Given the description of an element on the screen output the (x, y) to click on. 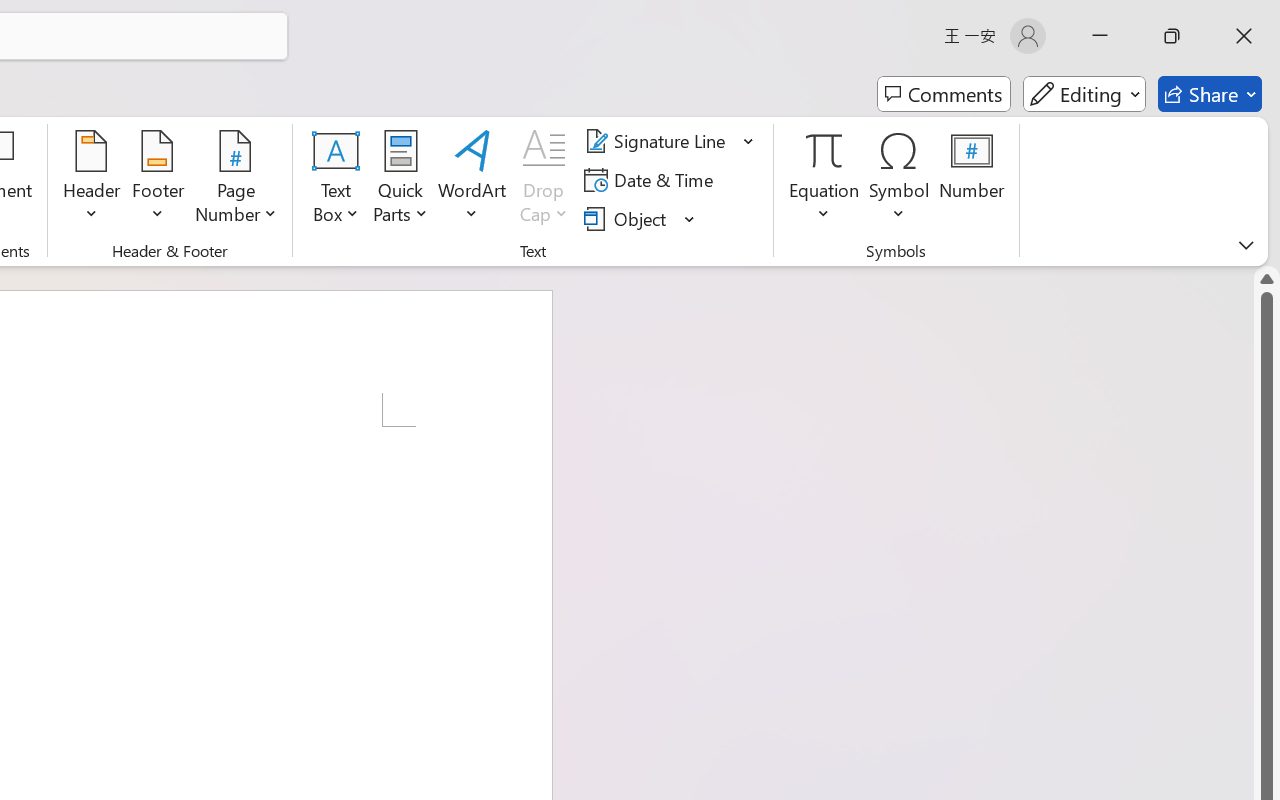
Object... (640, 218)
Signature Line (669, 141)
Header (92, 179)
Date & Time... (651, 179)
Text Box (335, 179)
Equation (823, 179)
